Given the description of an element on the screen output the (x, y) to click on. 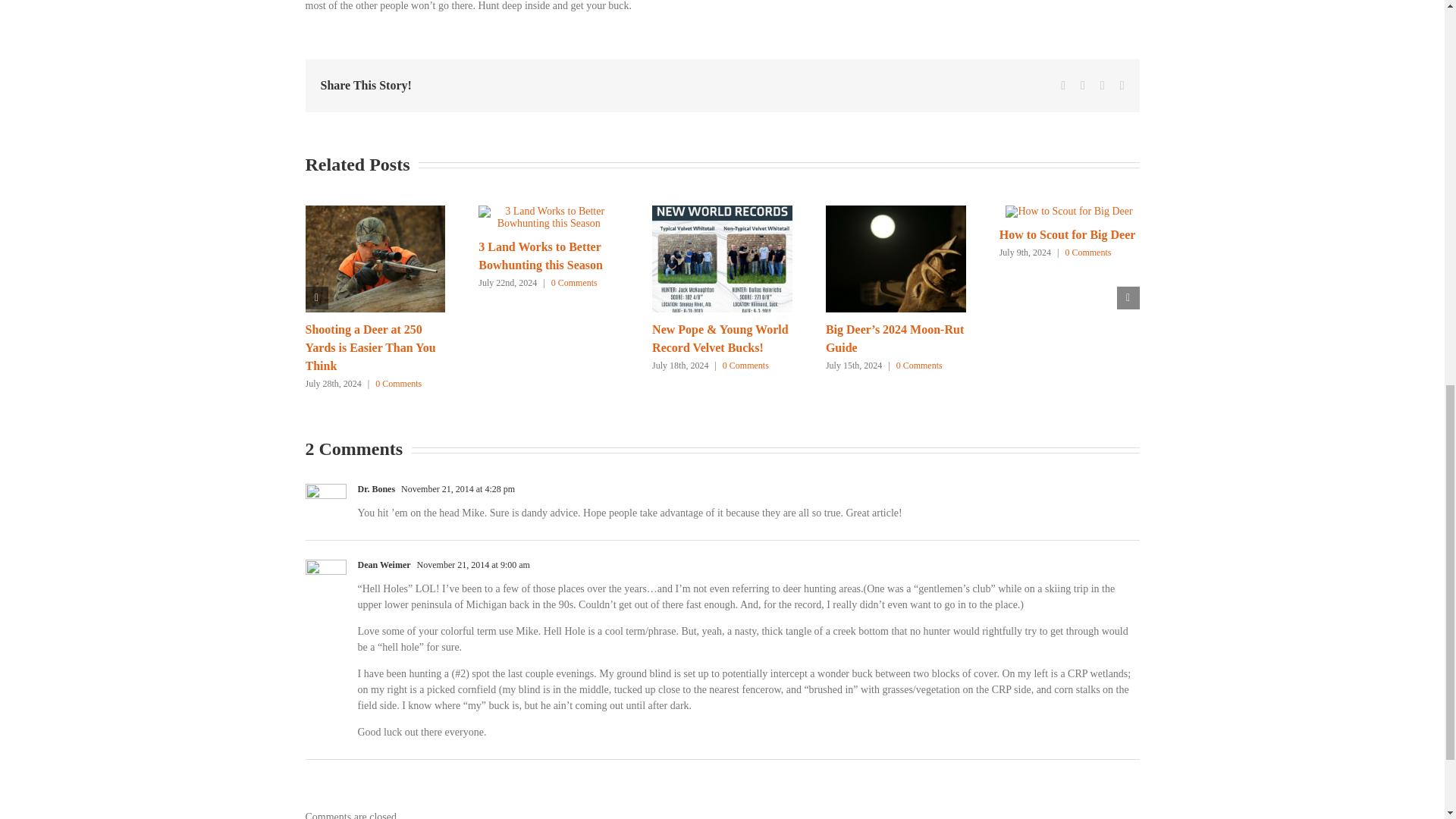
Shooting a Deer at 250 Yards is Easier Than You Think (369, 347)
3 Land Works to Better Bowhunting this Season (540, 255)
Shooting a Deer at 250 Yards is Easier Than You Think (369, 347)
